Given the description of an element on the screen output the (x, y) to click on. 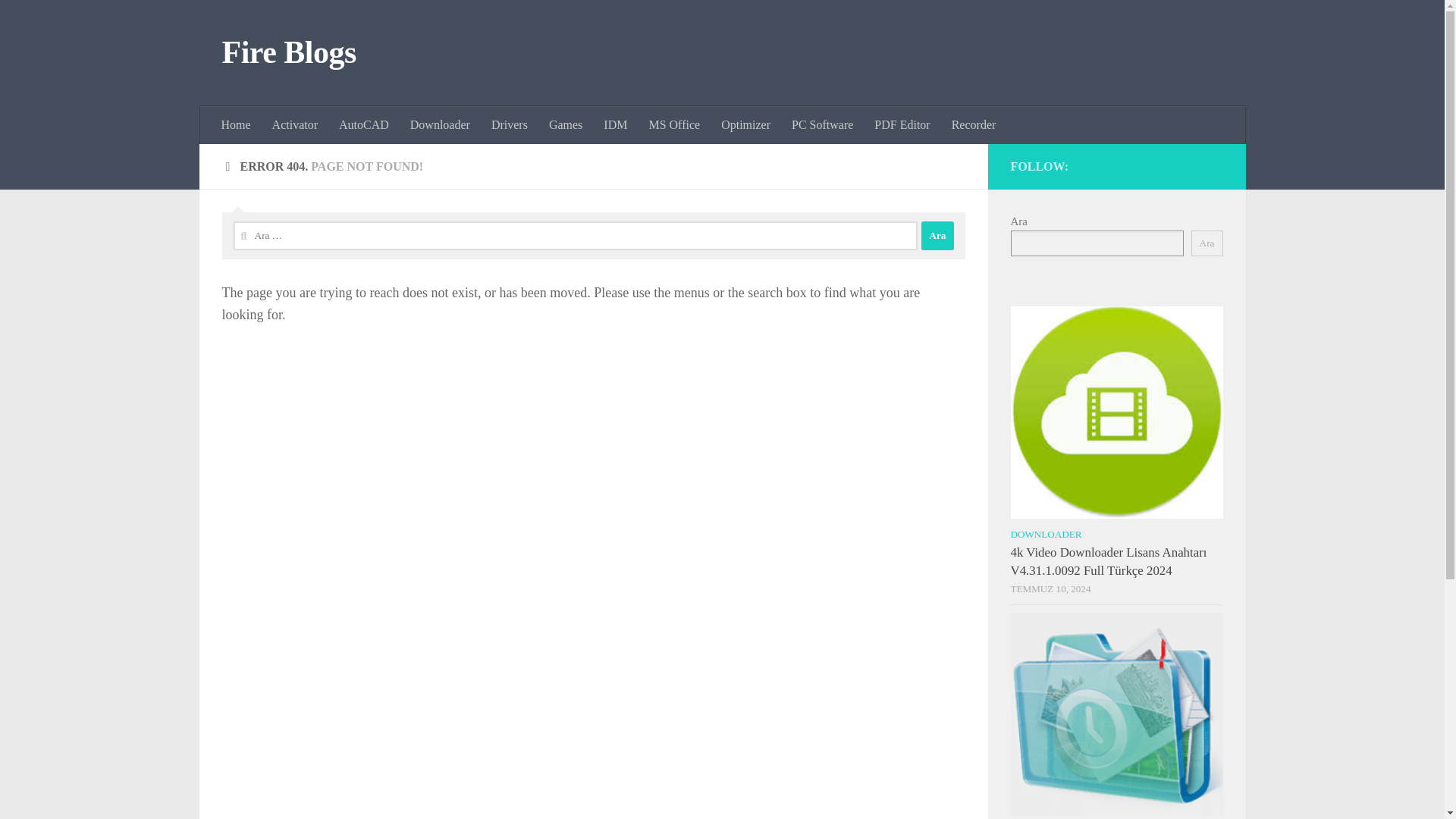
Home (236, 125)
Drivers (509, 125)
Ara (1207, 243)
DOWNLOADER (1045, 533)
Downloader (439, 125)
MS Office (673, 125)
PC Software (821, 125)
Ara (937, 235)
Games (565, 125)
Skip to content (59, 20)
PDF Editor (901, 125)
Ara (937, 235)
Ara (937, 235)
Fire Blogs (288, 53)
Activator (295, 125)
